Given the description of an element on the screen output the (x, y) to click on. 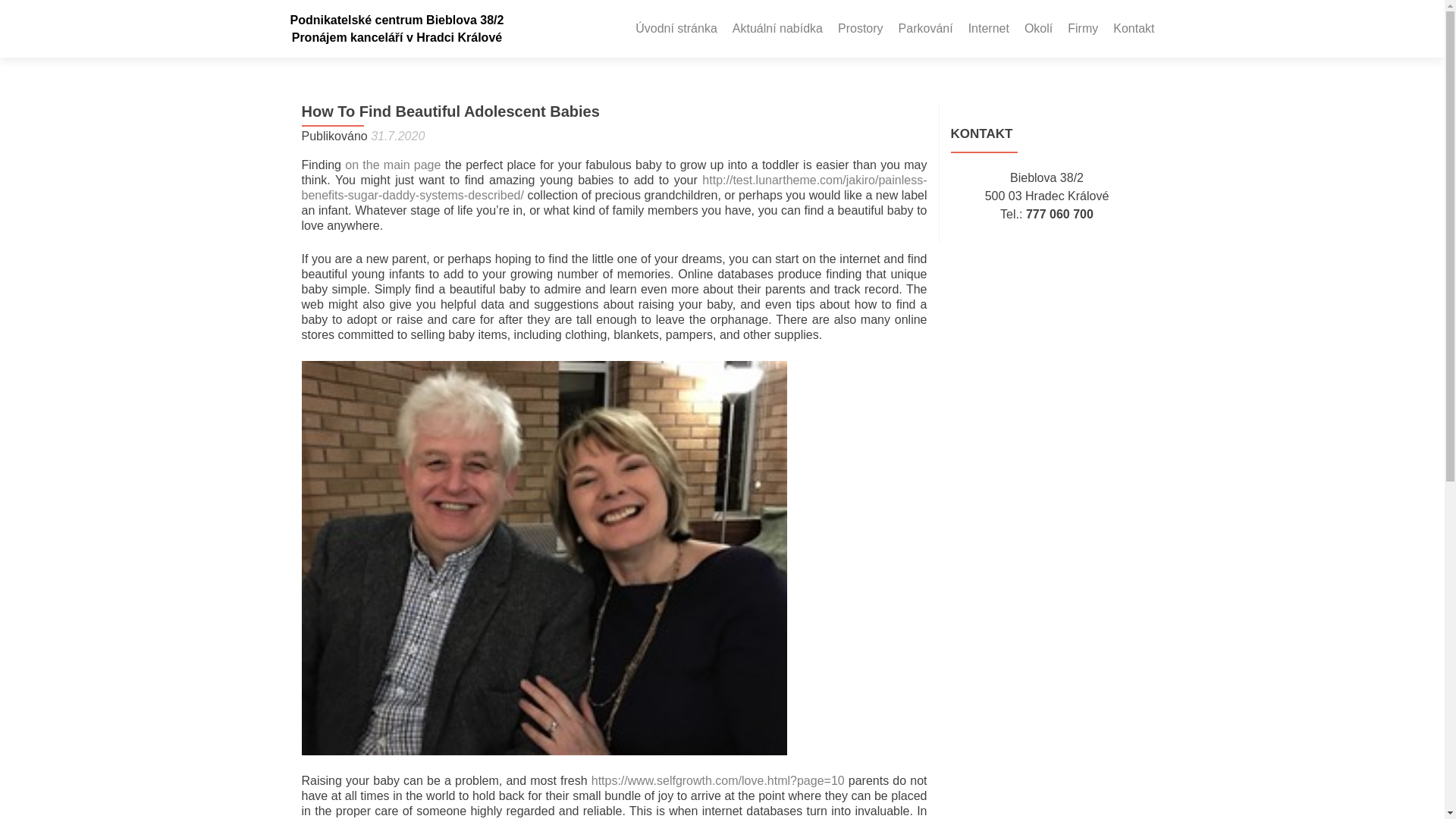
Prostory (860, 28)
Internet (988, 28)
on the main page (393, 164)
Kontakt (1133, 28)
Firmy (1082, 28)
31.7.2020 (398, 135)
